Given the description of an element on the screen output the (x, y) to click on. 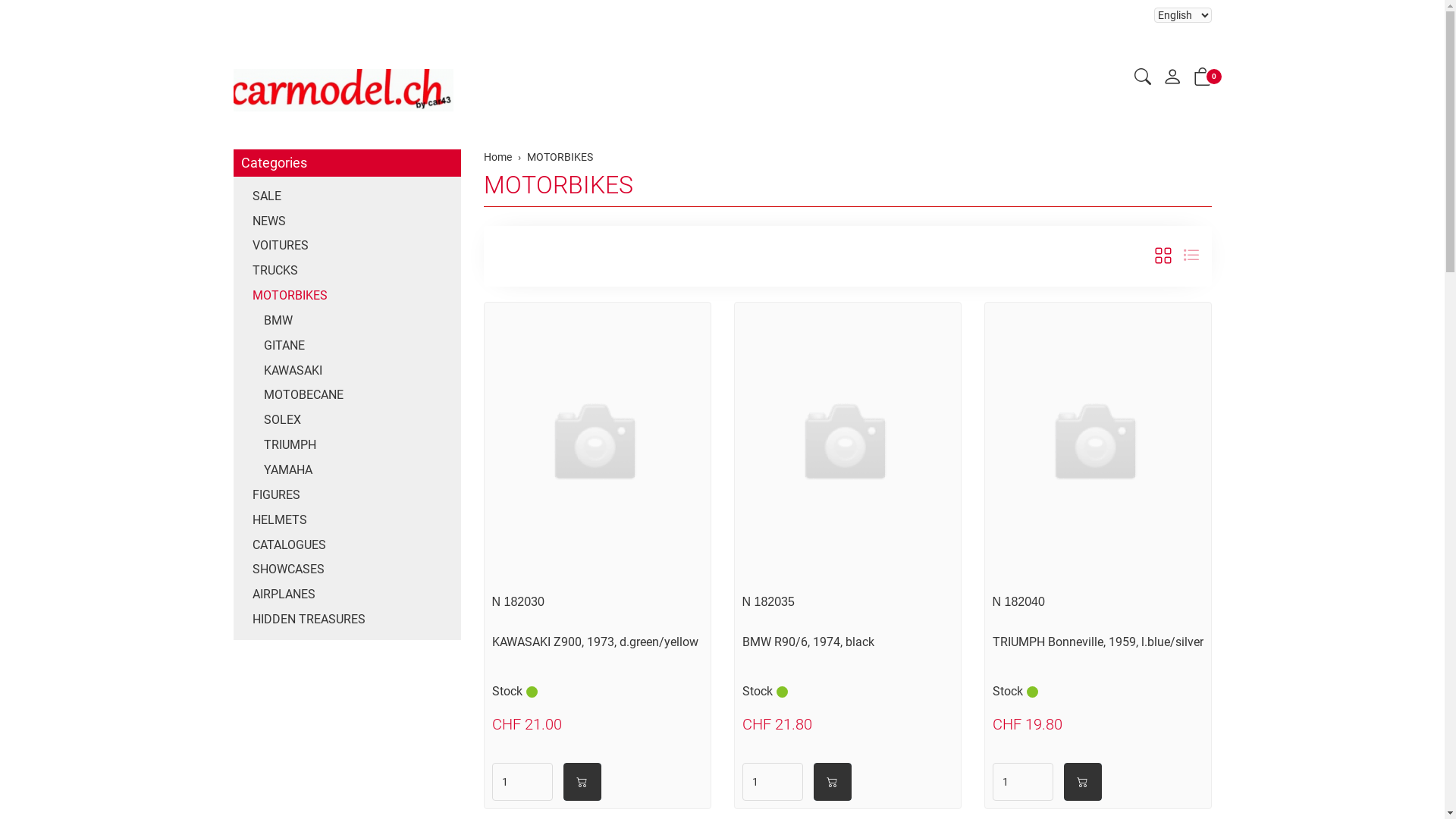
Search Element type: hover (1142, 78)
N 182040 Element type: text (1017, 601)
products in stock Element type: hover (781, 691)
NEWS Element type: text (347, 221)
Quantity Element type: hover (771, 781)
products in stock Element type: hover (1032, 691)
KAWASAKI Element type: text (347, 370)
BMW Element type: text (347, 320)
HELMETS Element type: text (347, 520)
CATALOGUES Element type: text (347, 545)
Click to see details Element type: hover (847, 444)
MOTORBIKES Element type: text (558, 184)
MOTOBECANE Element type: text (347, 394)
BMW R90/6, 1974, black Element type: text (807, 641)
AIRPLANES Element type: text (347, 594)
FIGURES Element type: text (347, 495)
Quantity Element type: hover (521, 781)
Click to see details Element type: hover (596, 444)
into shopping cart Element type: hover (831, 781)
YAMAHA Element type: text (347, 470)
TRIUMPH Element type: text (347, 445)
HIDDEN TREASURES Element type: text (347, 619)
List view Element type: hover (1190, 256)
into shopping cart Element type: hover (581, 781)
VOITURES Element type: text (347, 245)
N 182030 Element type: text (517, 601)
TRIUMPH Bonneville, 1959, l.blue/silver Element type: text (1096, 641)
TRUCKS Element type: text (347, 270)
N 182035 Element type: text (767, 601)
MOTORBIKES Element type: text (559, 156)
MOTORBIKES Element type: text (347, 295)
tile view Element type: hover (1163, 256)
KAWASAKI Z900, 1973, d.green/yellow Element type: text (594, 641)
Quantity Element type: hover (1021, 781)
SHOWCASES Element type: text (347, 569)
into shopping cart Element type: hover (1082, 781)
My account Element type: hover (1171, 80)
Click to see details Element type: hover (1097, 444)
0 Element type: text (1202, 79)
products in stock Element type: hover (531, 691)
SOLEX Element type: text (347, 420)
SALE Element type: text (347, 196)
GITANE Element type: text (347, 345)
Home Element type: text (497, 156)
